Given the description of an element on the screen output the (x, y) to click on. 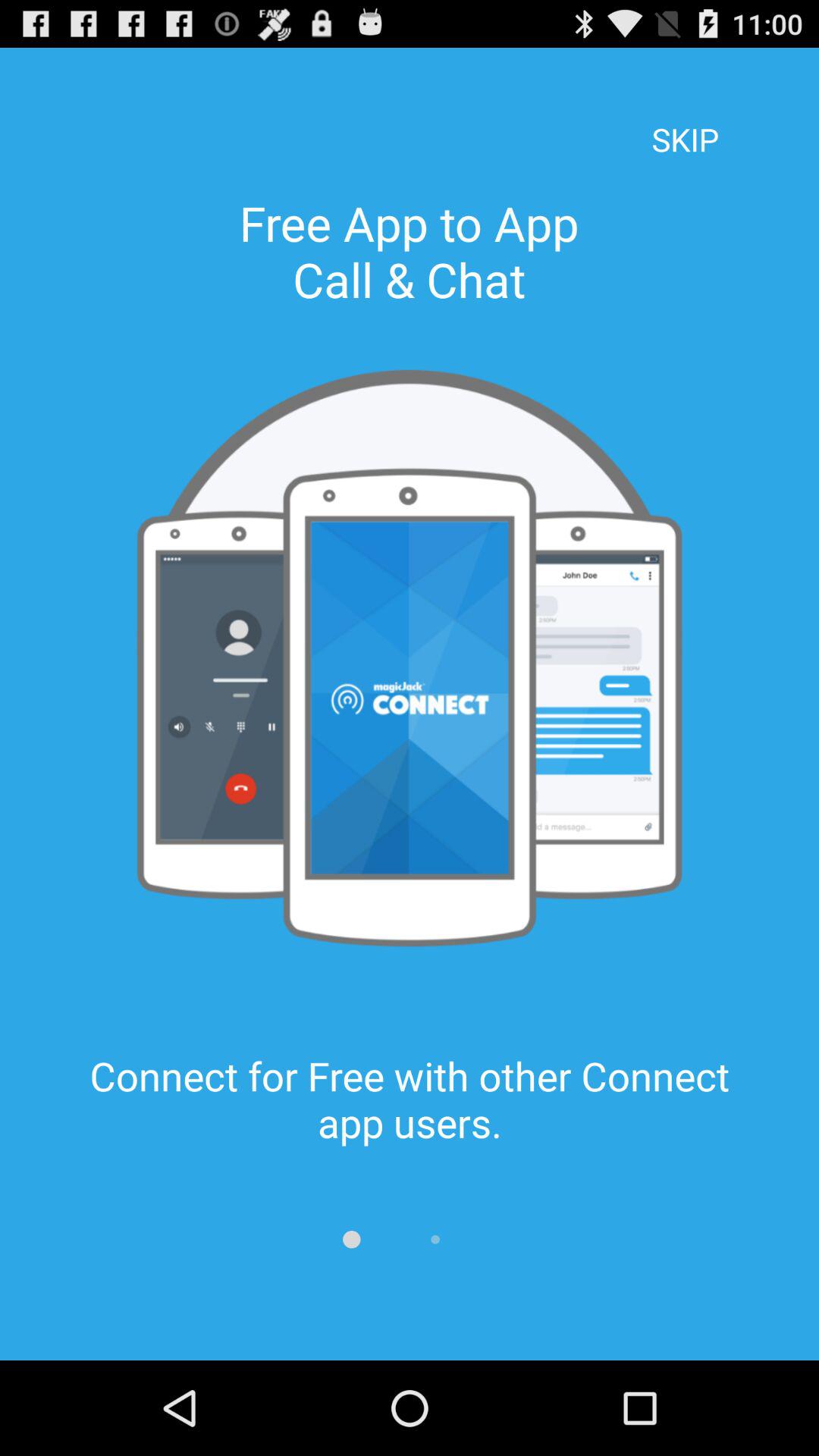
the current page being viewed (351, 1239)
